Given the description of an element on the screen output the (x, y) to click on. 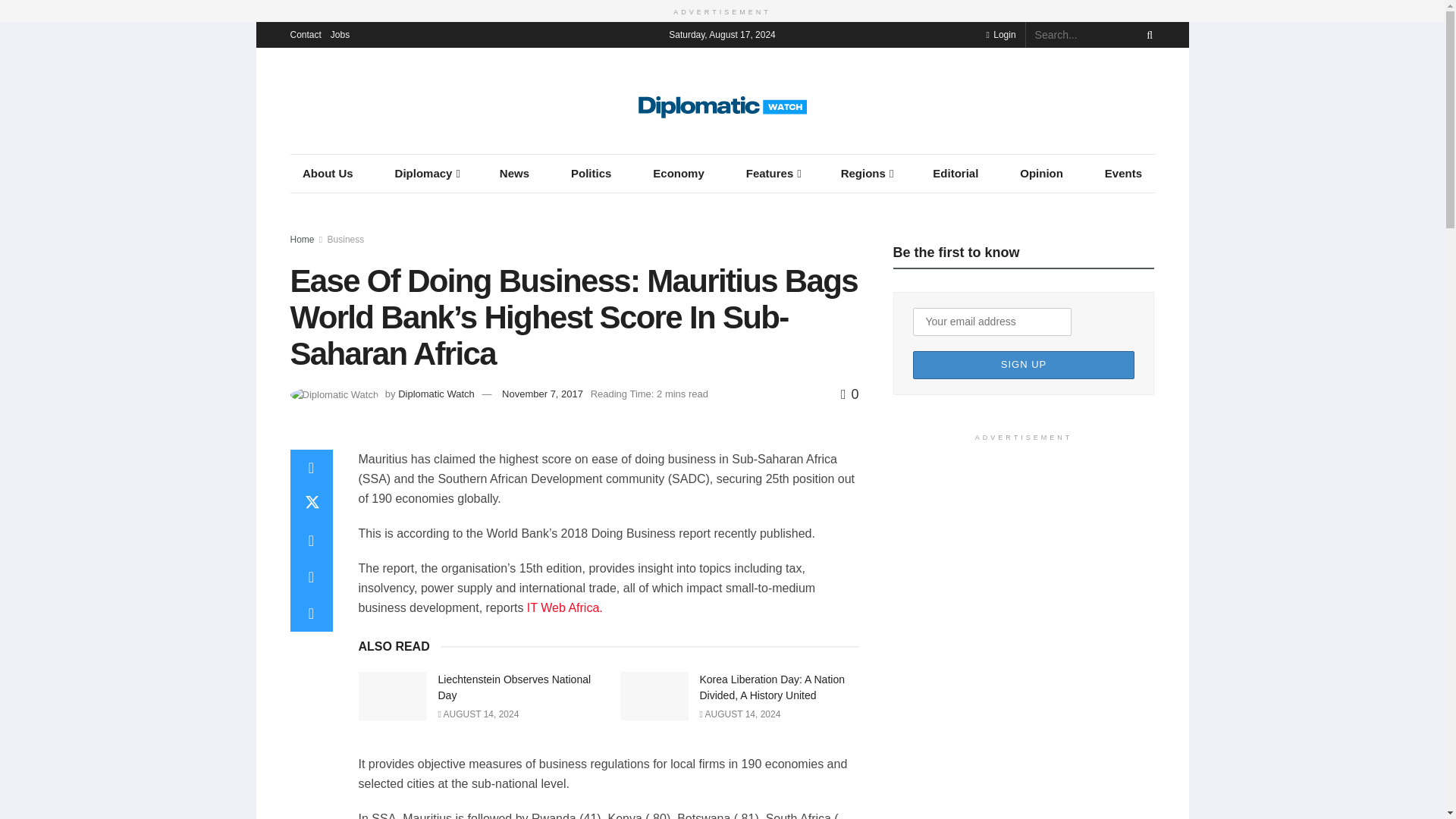
Contact (304, 33)
Opinion (1041, 173)
Features (772, 173)
Diplomacy (426, 173)
Regions (866, 173)
Economy (678, 173)
Editorial (955, 173)
About Us (327, 173)
Politics (590, 173)
News (514, 173)
